Given the description of an element on the screen output the (x, y) to click on. 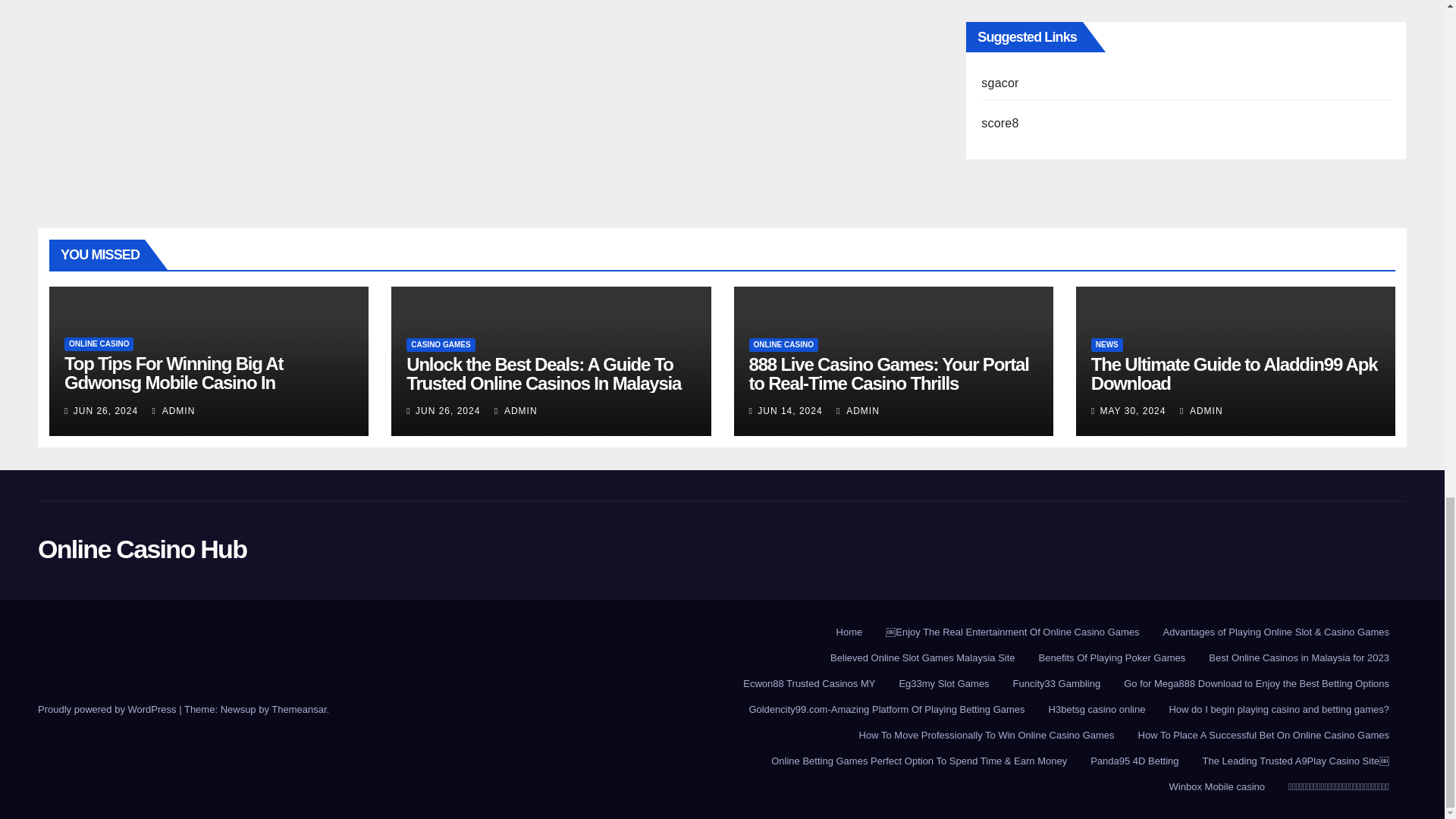
Home (849, 632)
Permalink to: The Ultimate Guide to Aladdin99 Apk Download (1233, 373)
